Given the description of an element on the screen output the (x, y) to click on. 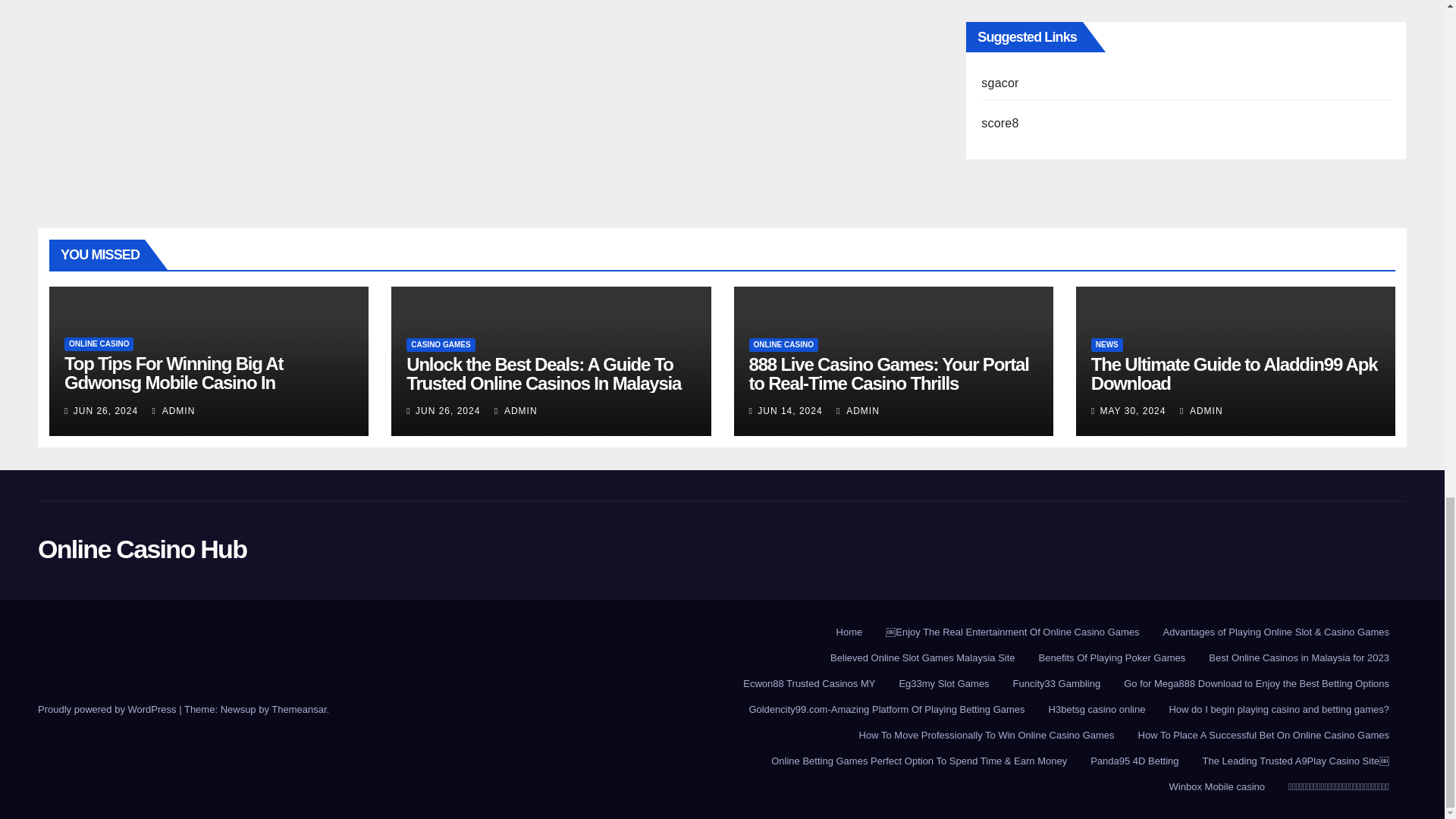
Home (849, 632)
Permalink to: The Ultimate Guide to Aladdin99 Apk Download (1233, 373)
